Given the description of an element on the screen output the (x, y) to click on. 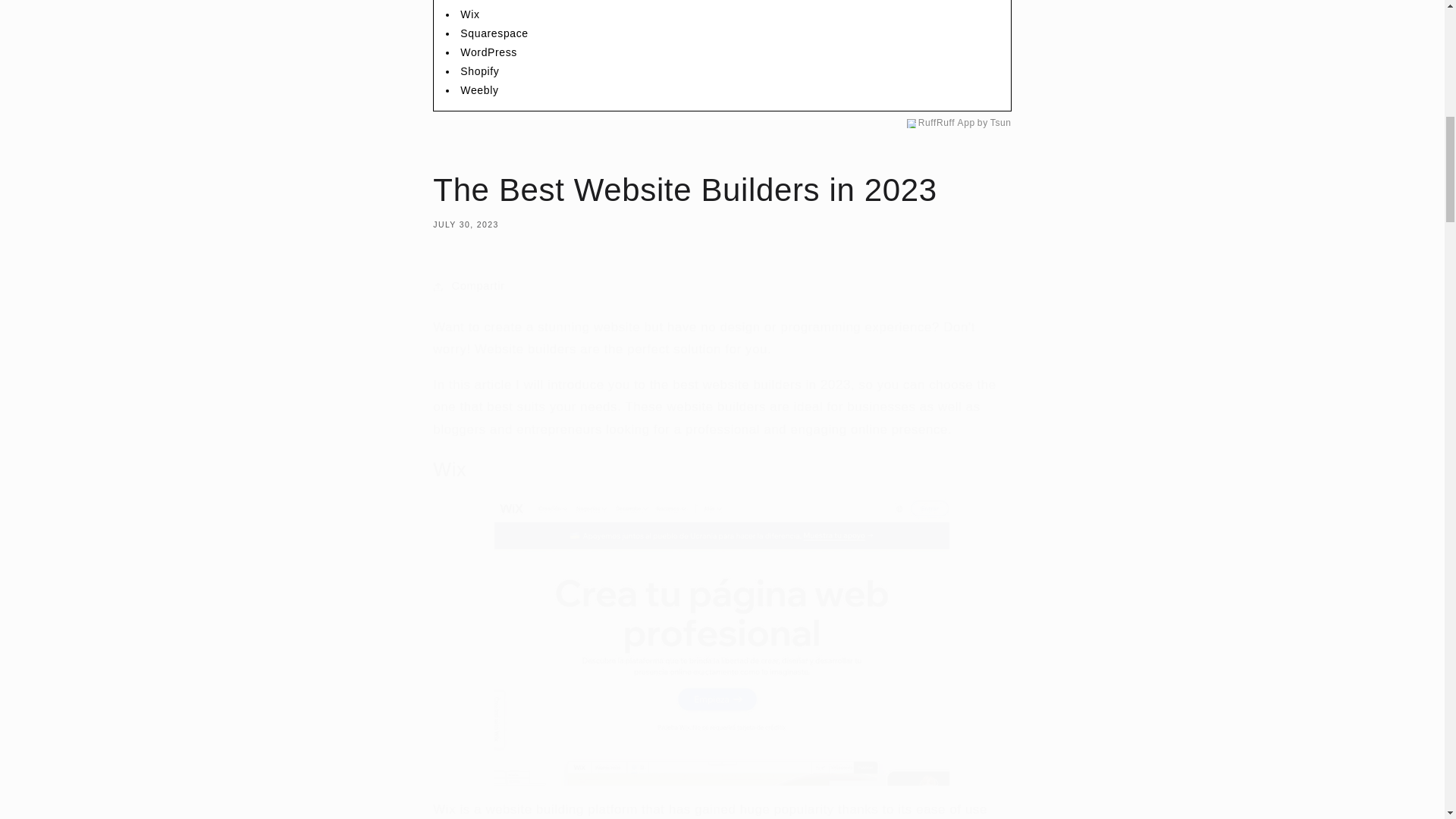
Compartir (721, 286)
Wix (469, 14)
Tsun (1000, 123)
RuffRuff App (946, 123)
